Given the description of an element on the screen output the (x, y) to click on. 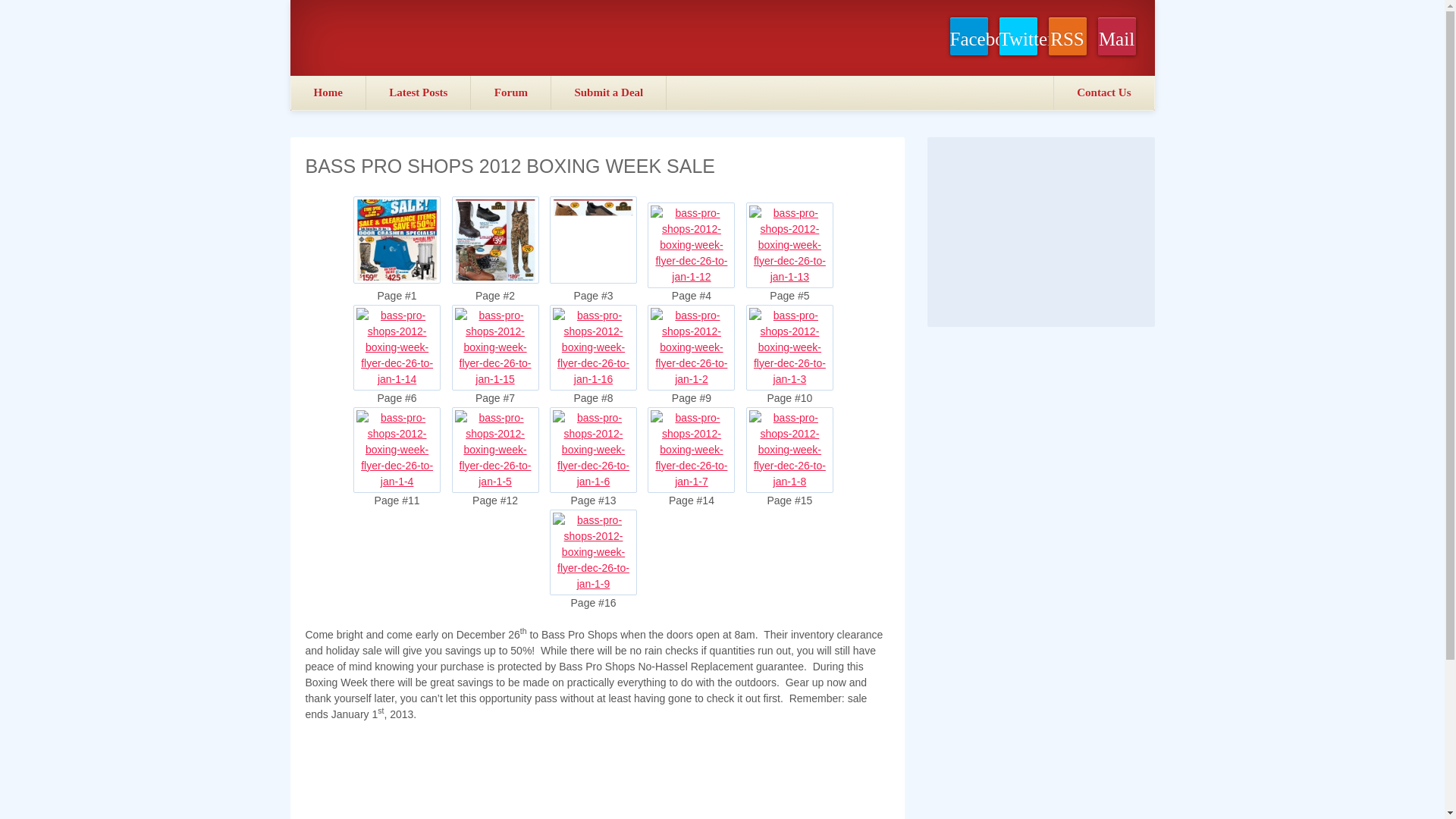
Twitter (1017, 36)
Mail (1116, 36)
Boxing Day Canada (410, 37)
Home (328, 92)
Submit a Deal (608, 92)
Facebook (968, 36)
Forum (511, 92)
Share Boxing Day deals with the members of Smart Canucks (511, 92)
Shop Boxing Day home (328, 92)
RSS (1067, 36)
See the complete list of deals (418, 92)
Stay up-to-date with the best Boxing Day deals (1116, 36)
Like us on Facebook (968, 36)
Contact us (1102, 92)
Subscribe to the RSS feed (1067, 36)
